Given the description of an element on the screen output the (x, y) to click on. 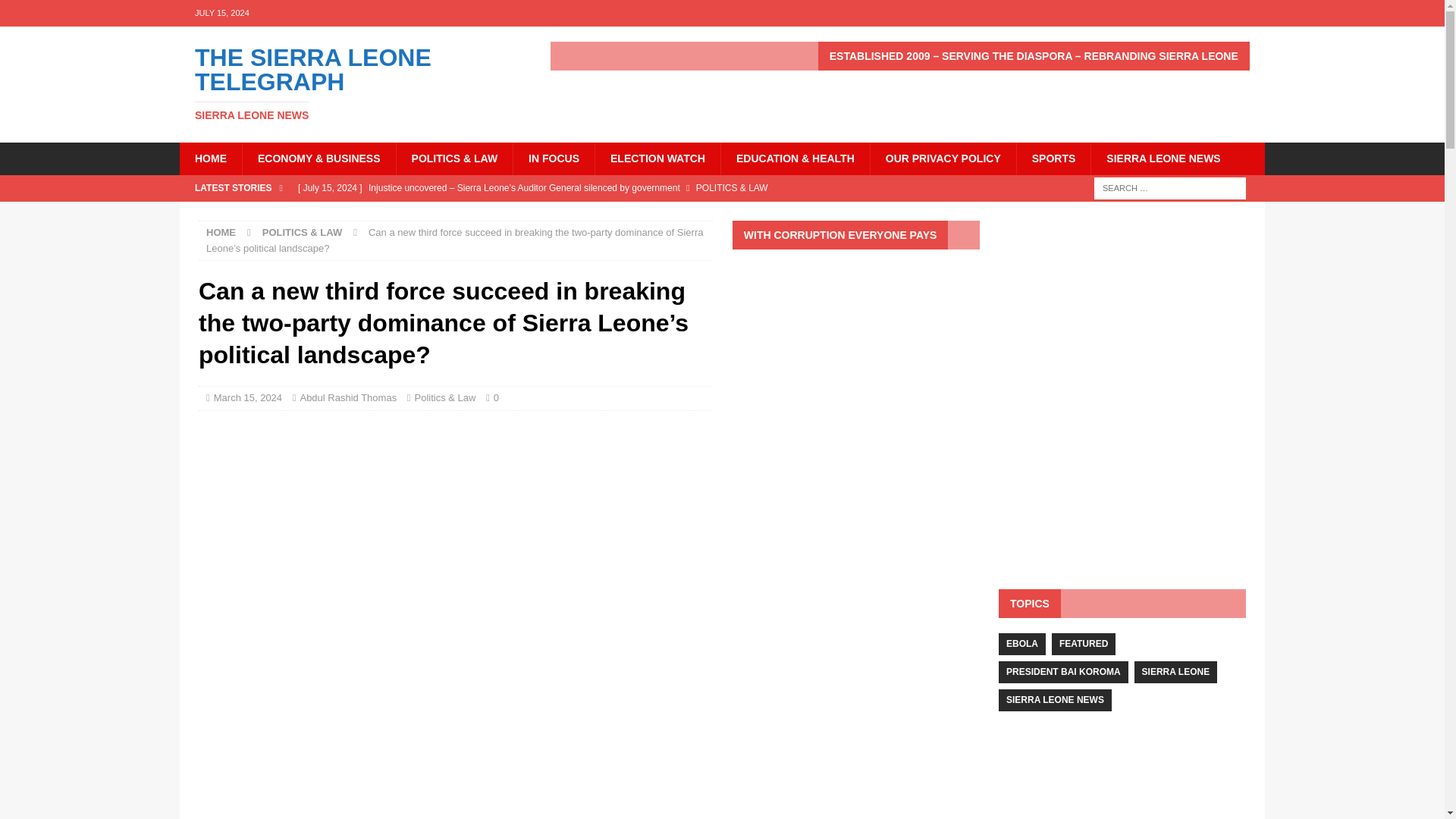
The Sierra Leone Telegraph (351, 83)
Abdul Rashid Thomas (347, 397)
March 15, 2024 (351, 83)
SPORTS (248, 397)
HOME (1053, 158)
SIERRA LEONE NEWS (210, 158)
Parliament of Sierra Leone 2021 (1162, 158)
OUR PRIVACY POLICY (220, 232)
